Given the description of an element on the screen output the (x, y) to click on. 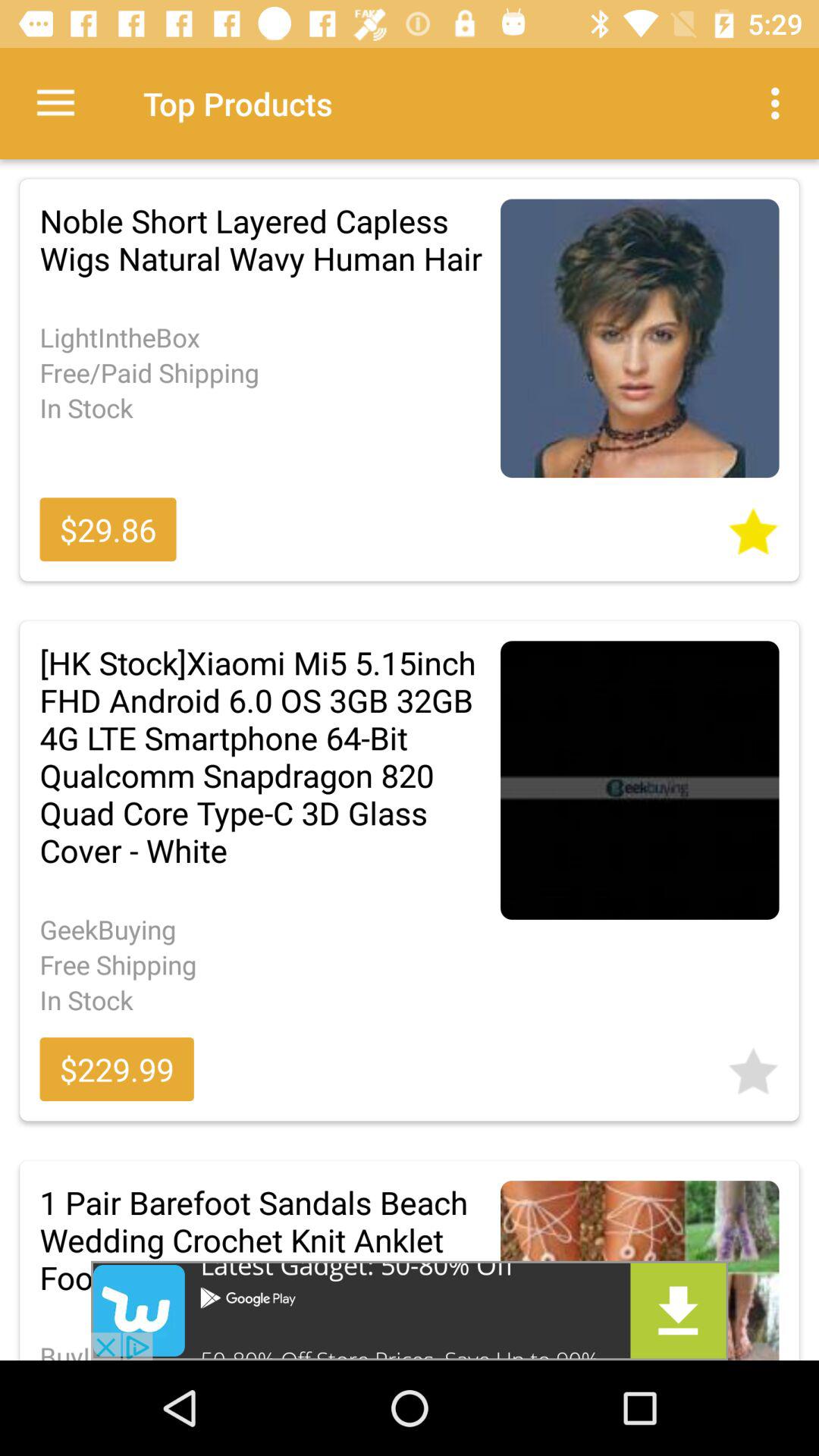
click on the second image (639, 780)
